Given the description of an element on the screen output the (x, y) to click on. 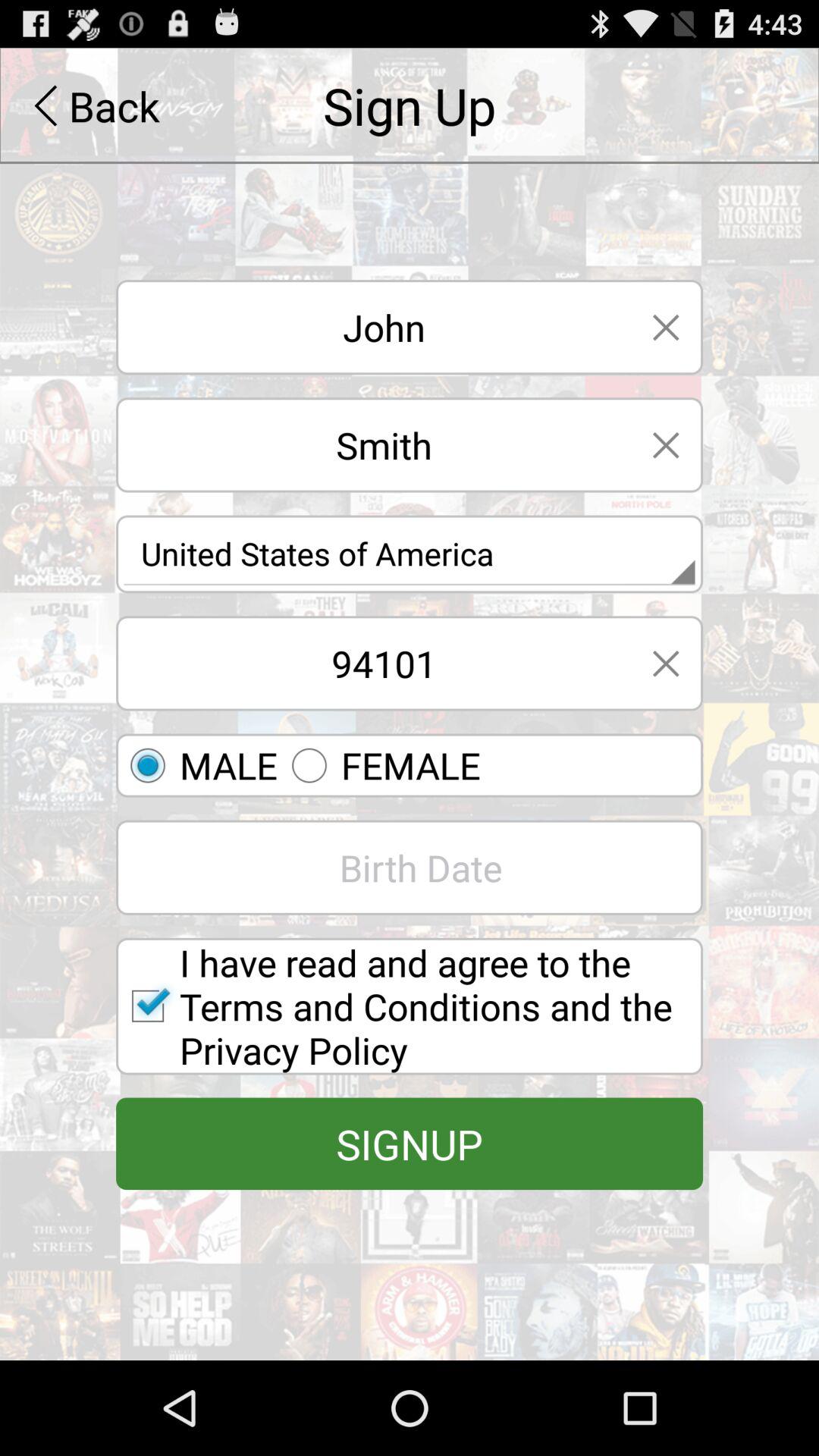
birth date field (409, 867)
